Given the description of an element on the screen output the (x, y) to click on. 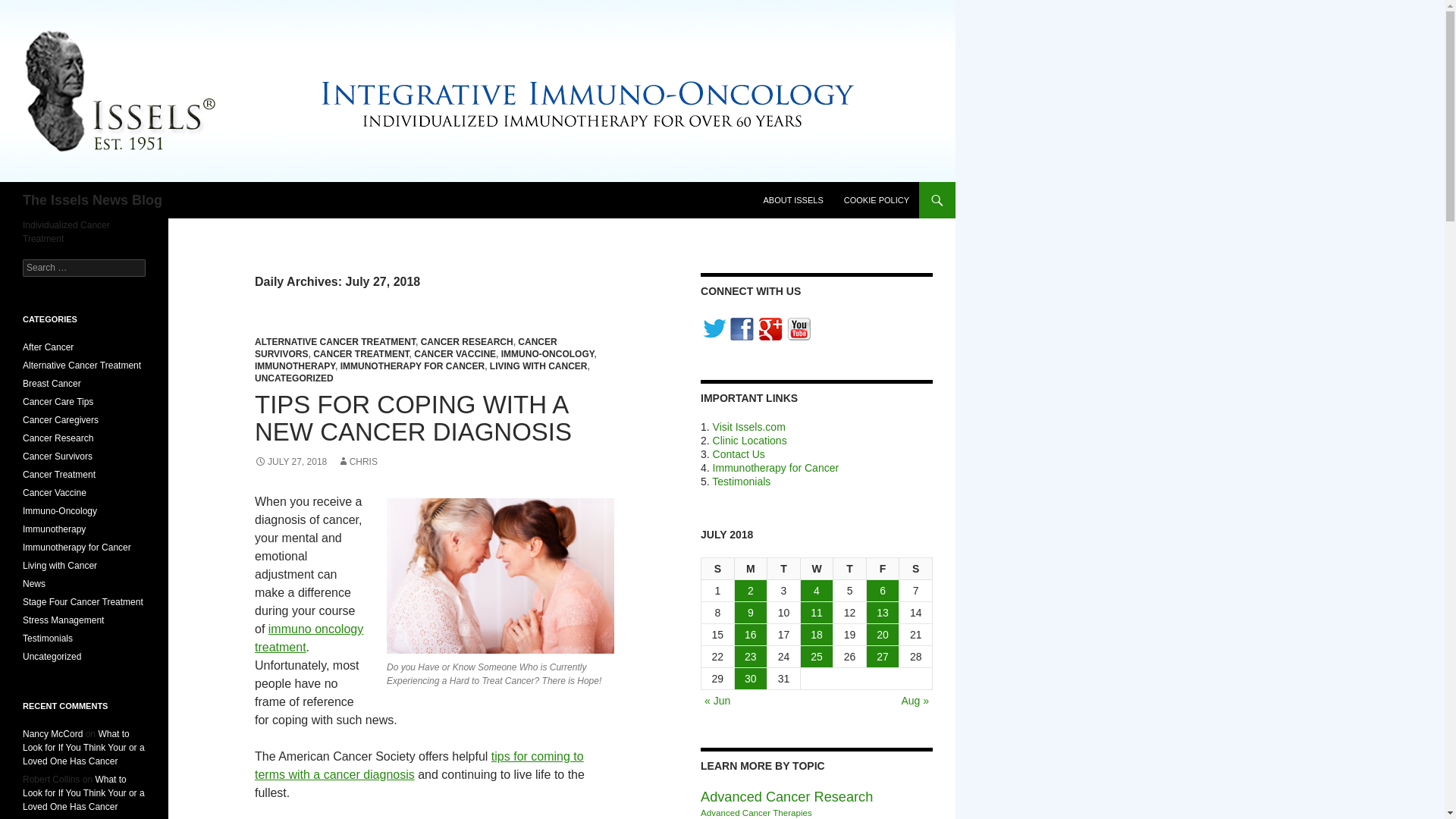
TIPS FOR COPING WITH A NEW CANCER DIAGNOSIS (413, 417)
immuno oncology treatment (308, 637)
Clinic Locations (750, 440)
Monday (751, 568)
11 (816, 612)
COOKIE POLICY (876, 199)
Visit Issels.com (749, 426)
CANCER RESEARCH (466, 341)
CANCER VACCINE (454, 353)
JULY 27, 2018 (290, 461)
